Given the description of an element on the screen output the (x, y) to click on. 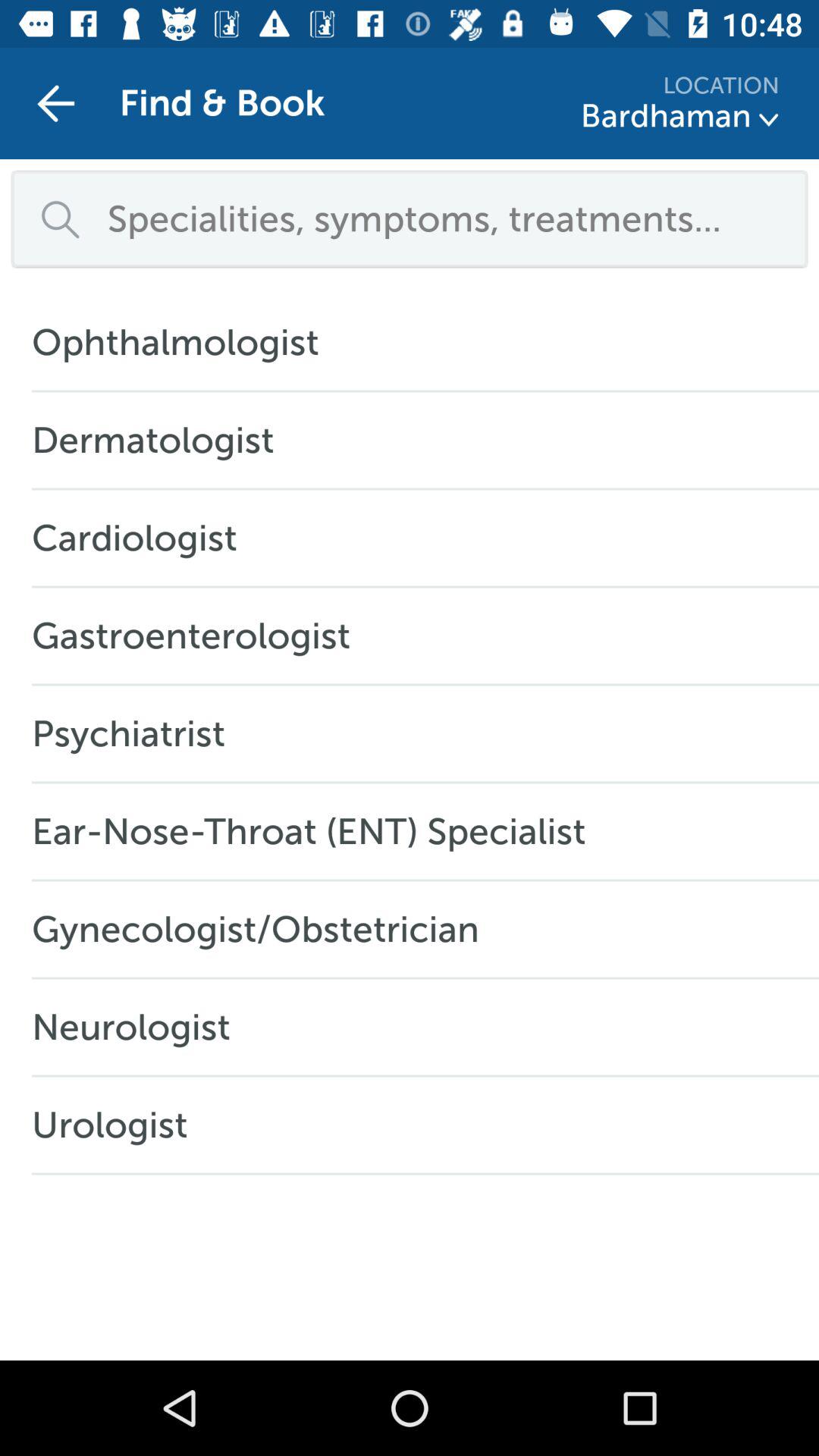
turn on item next to find & book (55, 103)
